Given the description of an element on the screen output the (x, y) to click on. 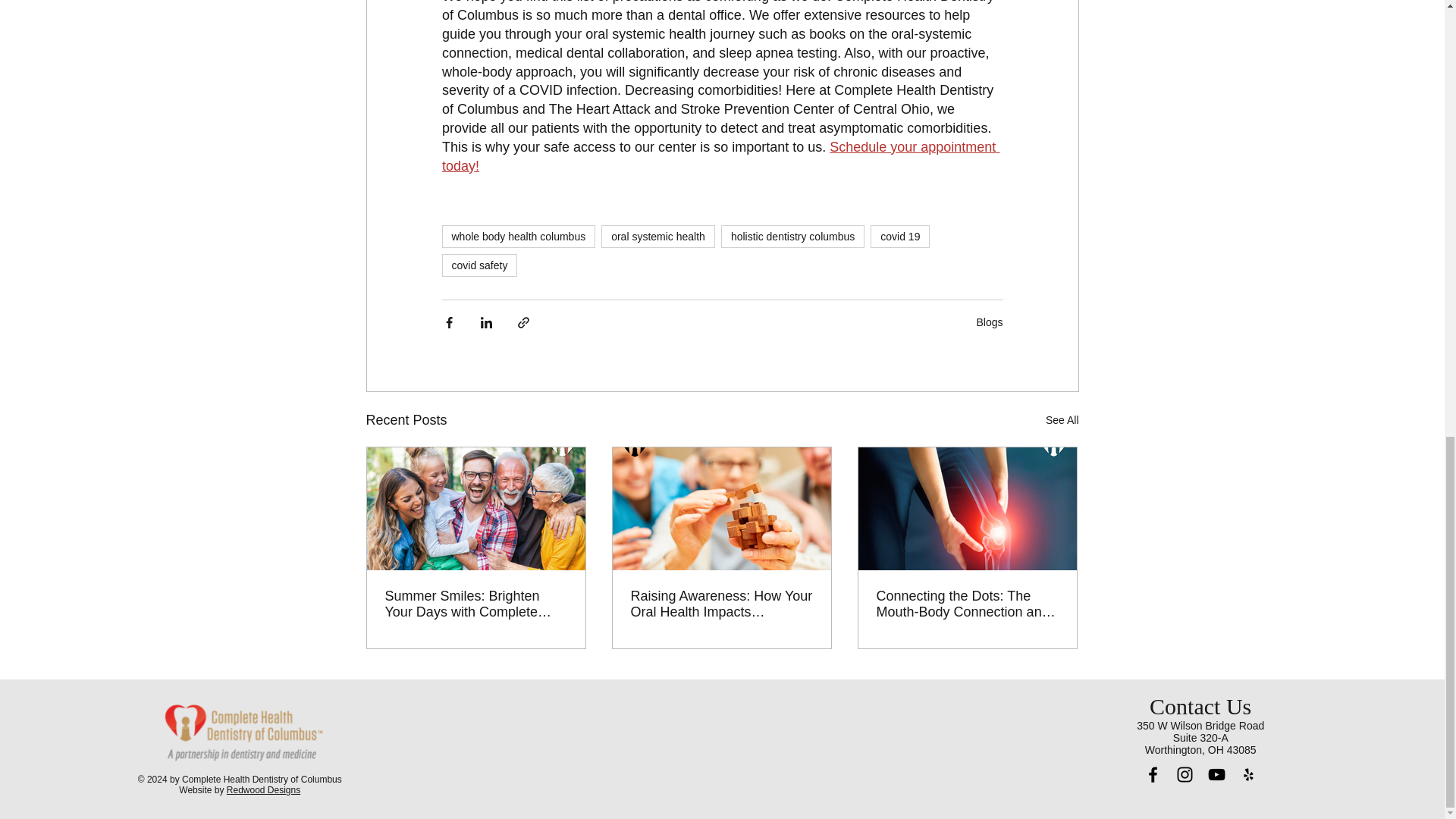
holistic dentistry columbus (792, 236)
whole body health columbus (518, 236)
oral systemic health (657, 236)
Schedule your appointment today! (719, 156)
